Given the description of an element on the screen output the (x, y) to click on. 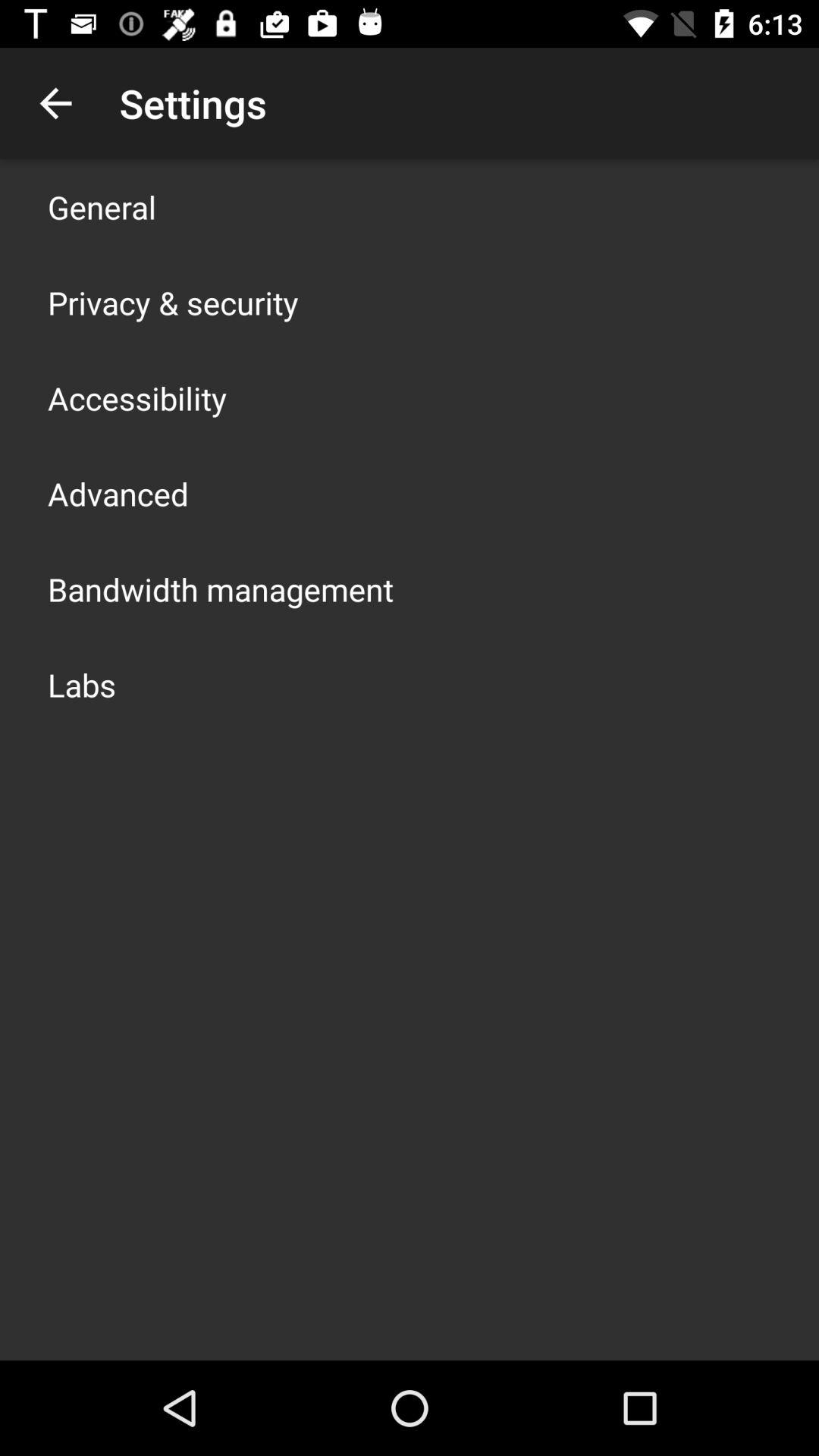
click the advanced app (117, 493)
